Given the description of an element on the screen output the (x, y) to click on. 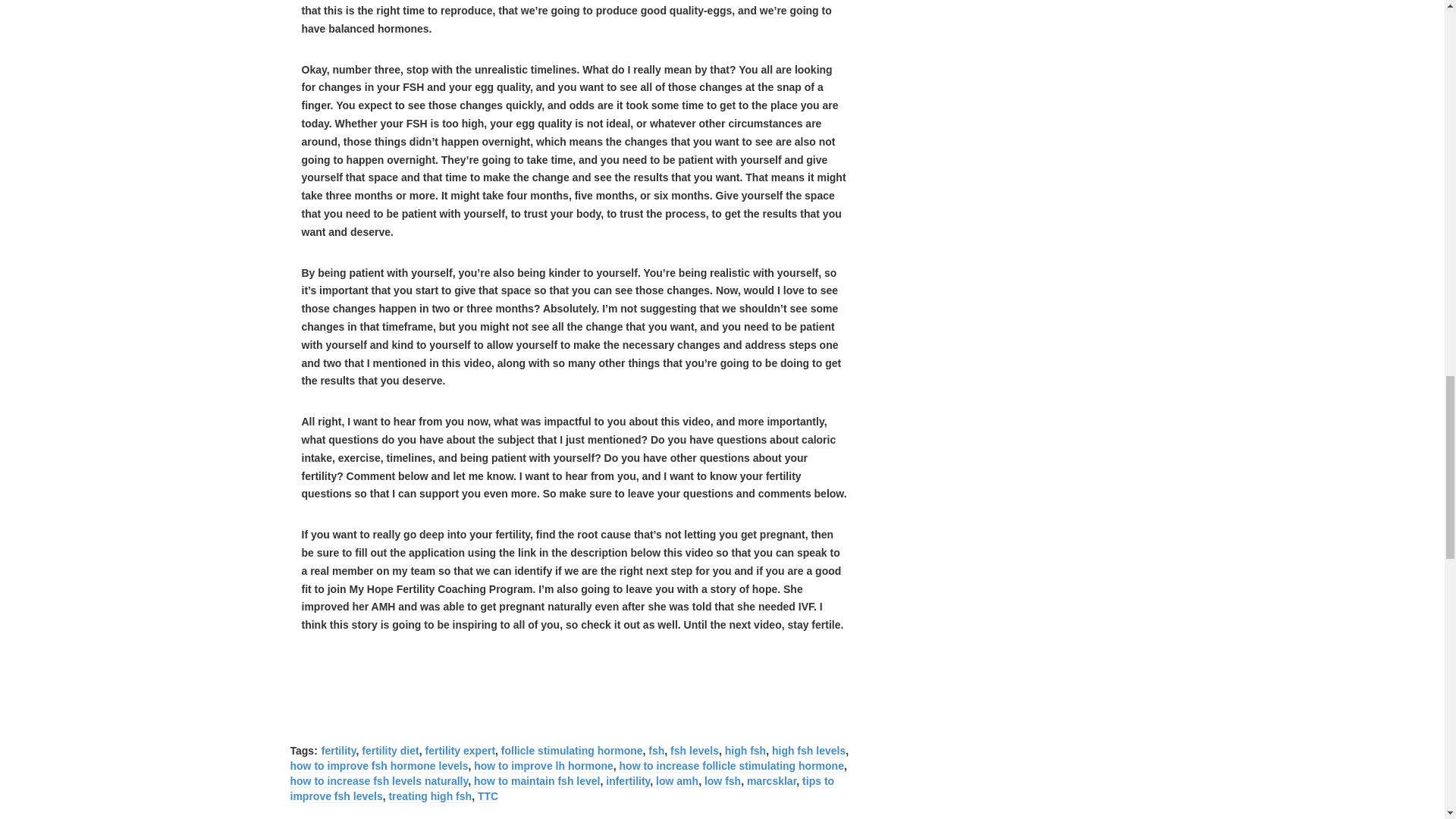
follicle stimulating hormone (571, 750)
fsh levels (694, 750)
fertility expert (460, 750)
high fsh levels (808, 750)
fsh (655, 750)
fertility (338, 750)
high fsh (745, 750)
fertility diet (390, 750)
